Given the description of an element on the screen output the (x, y) to click on. 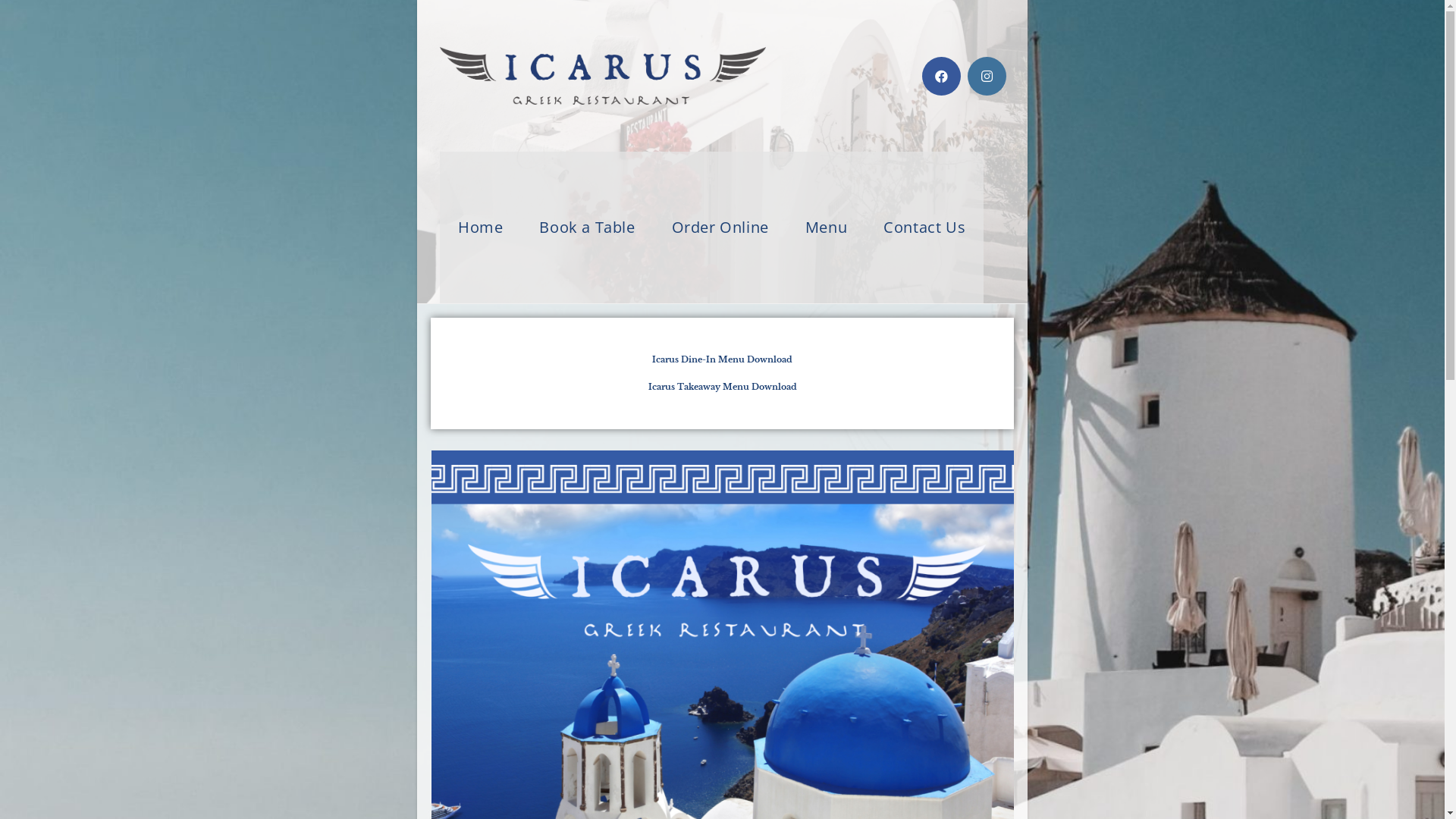
Book a Table Element type: text (586, 227)
Contact Us Element type: text (924, 227)
Home Element type: text (479, 227)
Icarus Takeaway Menu Download Element type: text (721, 386)
Menu Element type: text (826, 227)
Order Online Element type: text (720, 227)
Icarus Dine-In Menu Download Element type: text (722, 359)
